Given the description of an element on the screen output the (x, y) to click on. 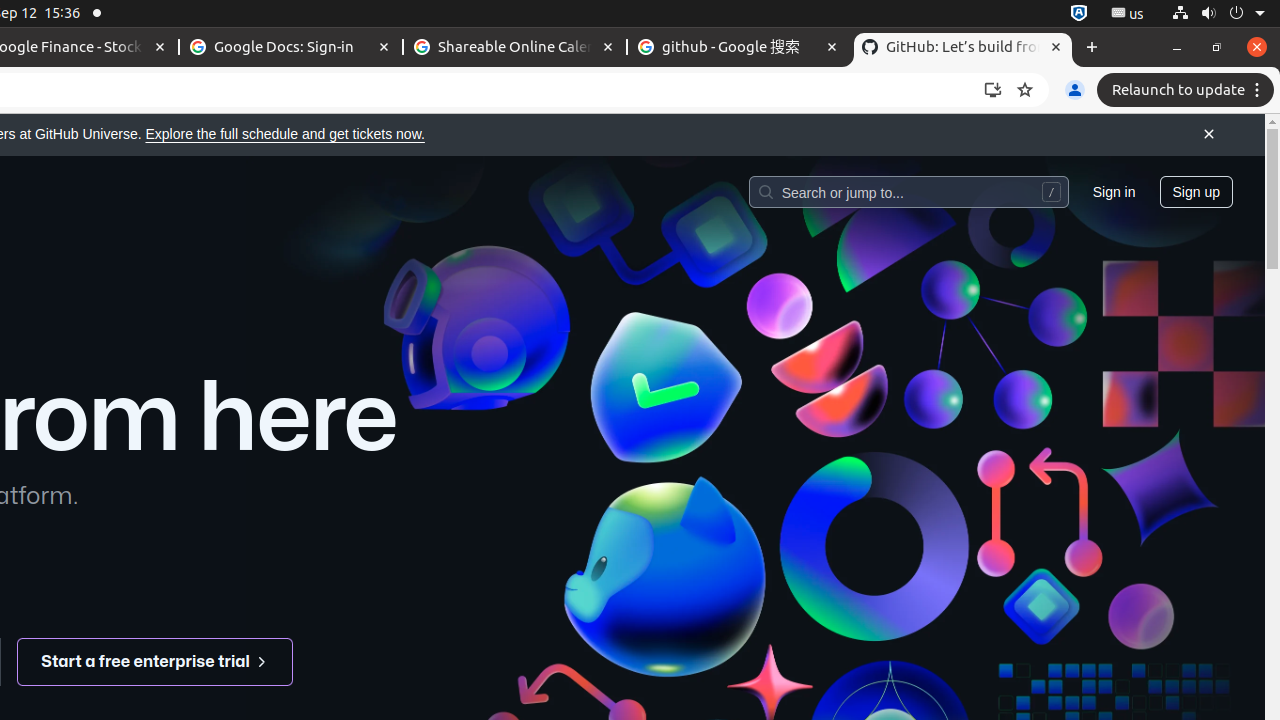
Relaunch to update Element type: push-button (1188, 90)
